Given the description of an element on the screen output the (x, y) to click on. 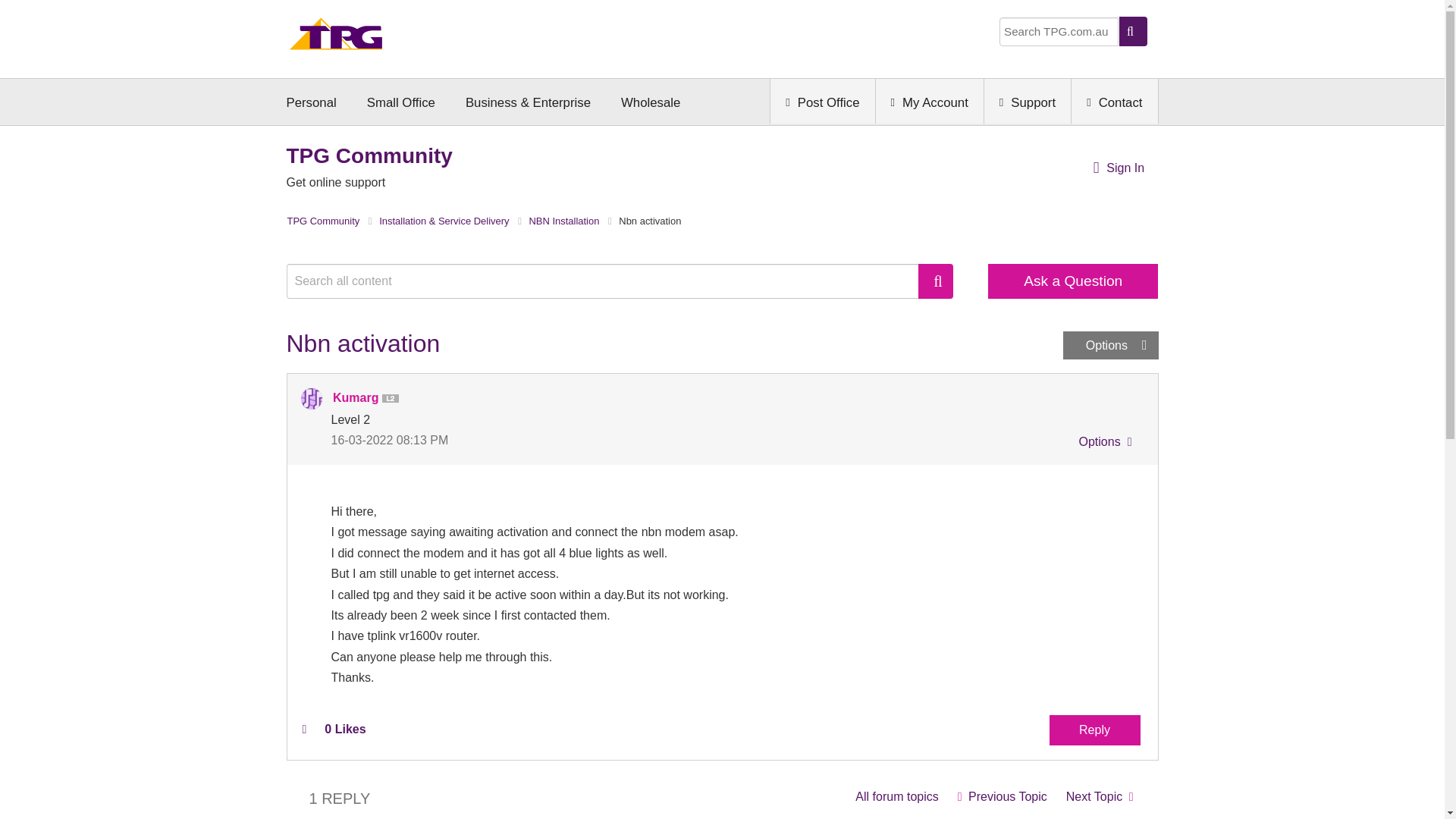
NBN Installation (896, 796)
Show option menu (1110, 345)
Search (935, 280)
Kumarg (310, 398)
Posted on (526, 439)
Home (335, 38)
Unable to activate NBN connection (1002, 796)
Show option menu (1103, 443)
Search (935, 280)
Search (610, 280)
